Given the description of an element on the screen output the (x, y) to click on. 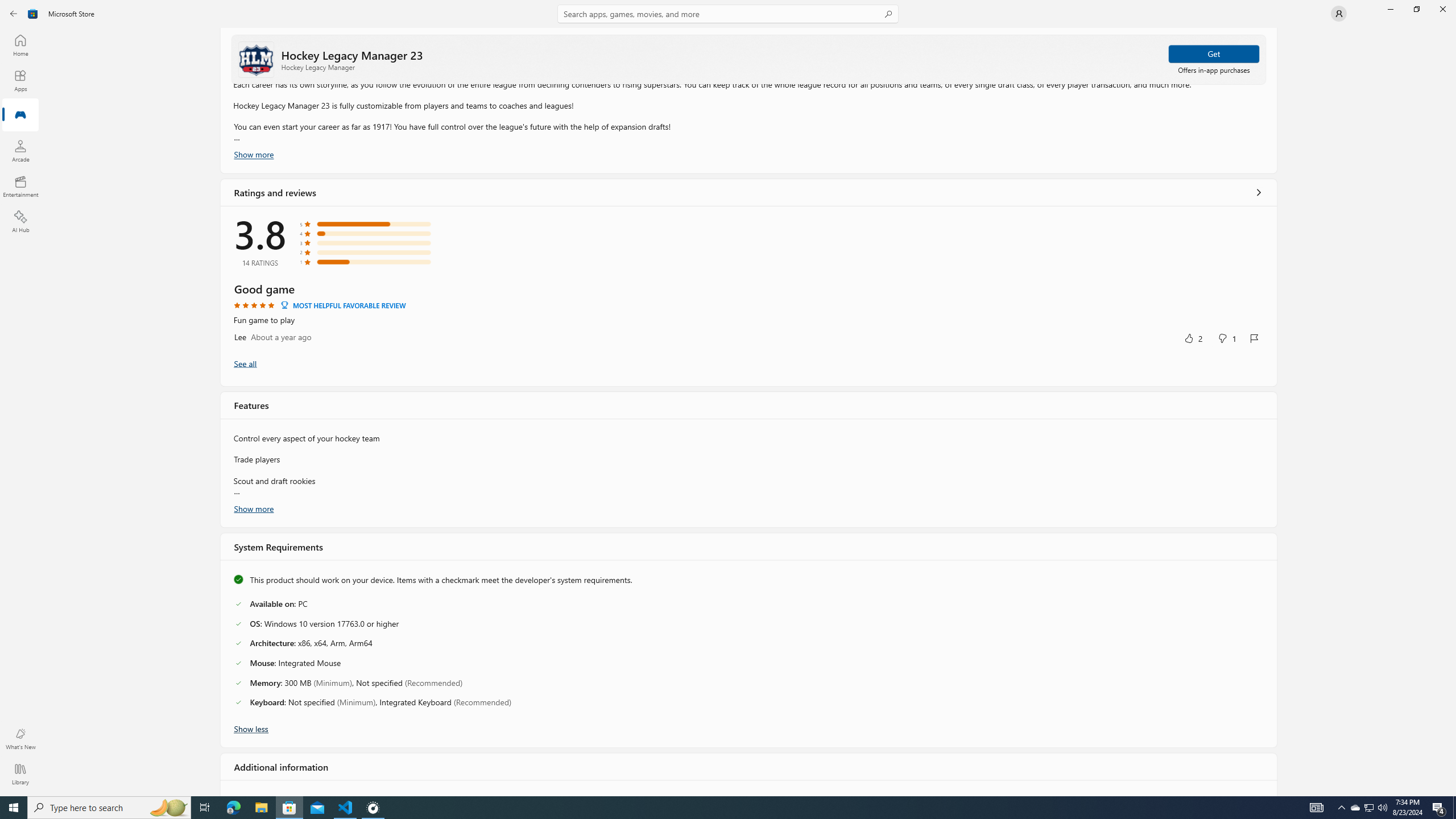
Show all ratings and reviews (1258, 192)
Get (1213, 53)
Show all ratings and reviews (244, 362)
Gaming (20, 115)
Class: Image (32, 13)
Minimize Microsoft Store (1390, 9)
Report review (1253, 338)
Library (20, 773)
Scroll to top (748, 59)
No, this was not helpful. 1 votes. (1226, 338)
Back (13, 13)
Search (727, 13)
Show more (253, 507)
Apps (20, 80)
AI Hub (20, 221)
